Given the description of an element on the screen output the (x, y) to click on. 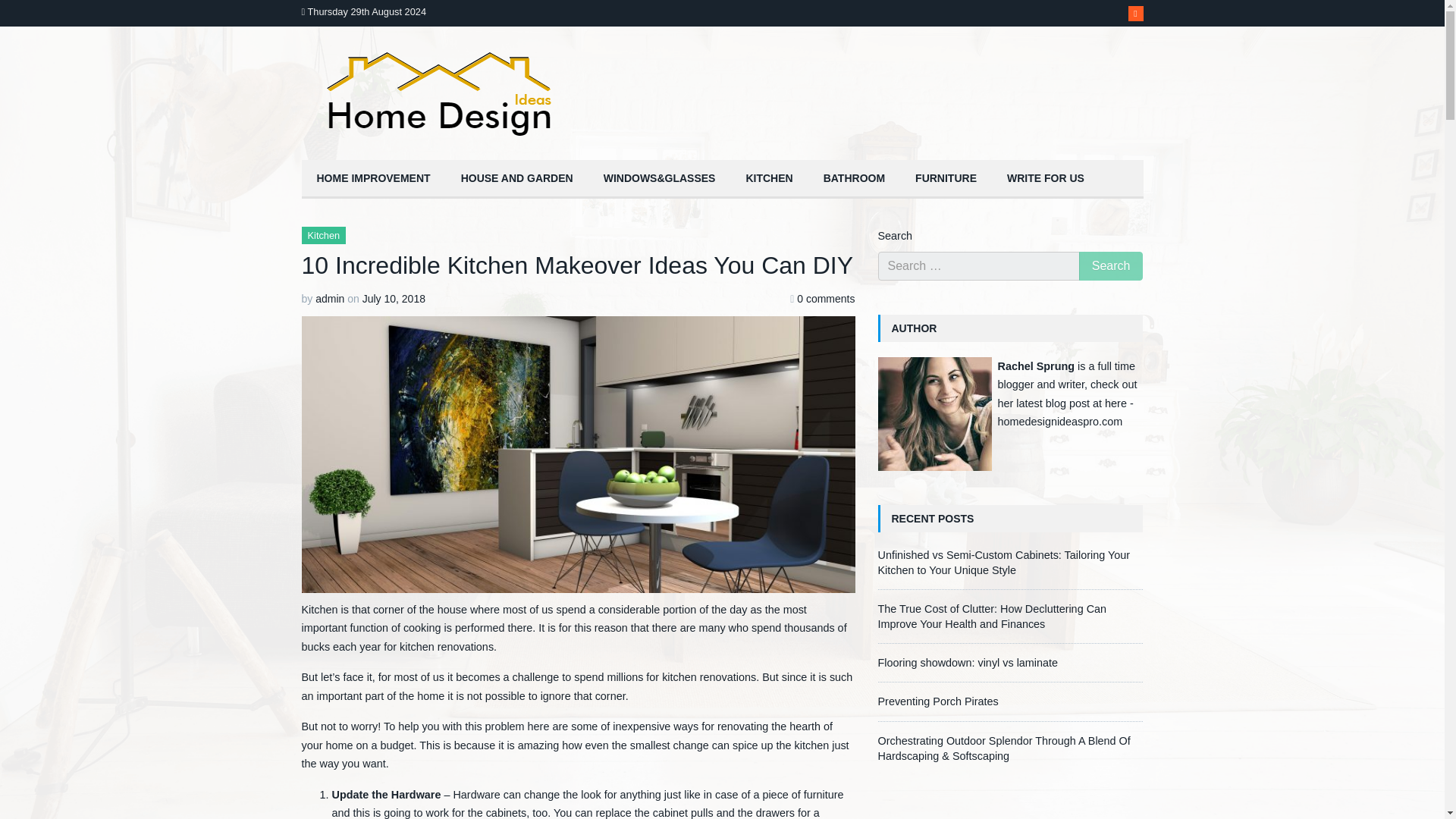
July 10, 2018 (393, 298)
Flooring showdown: vinyl vs laminate (967, 662)
Kitchen (323, 235)
admin (329, 298)
HOME IMPROVEMENT (373, 179)
Kitchen (769, 179)
KITCHEN (769, 179)
Search (1110, 265)
FURNITURE (945, 179)
